Given the description of an element on the screen output the (x, y) to click on. 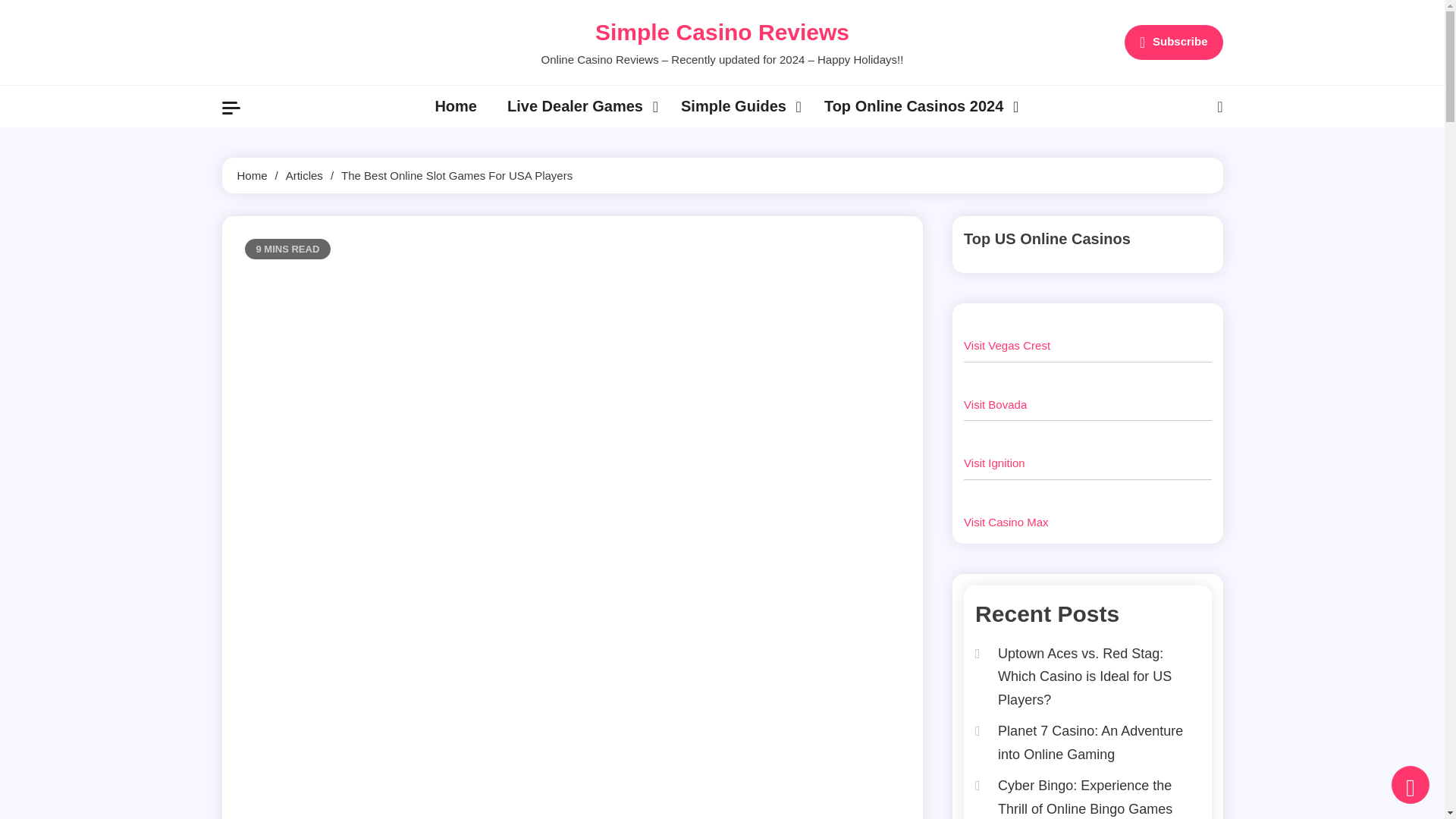
Search (1180, 165)
Home (250, 174)
Home (455, 106)
Live Dealer Games (578, 106)
Simple Casino Reviews (721, 32)
Simple Guides (737, 106)
Articles (304, 174)
